Given the description of an element on the screen output the (x, y) to click on. 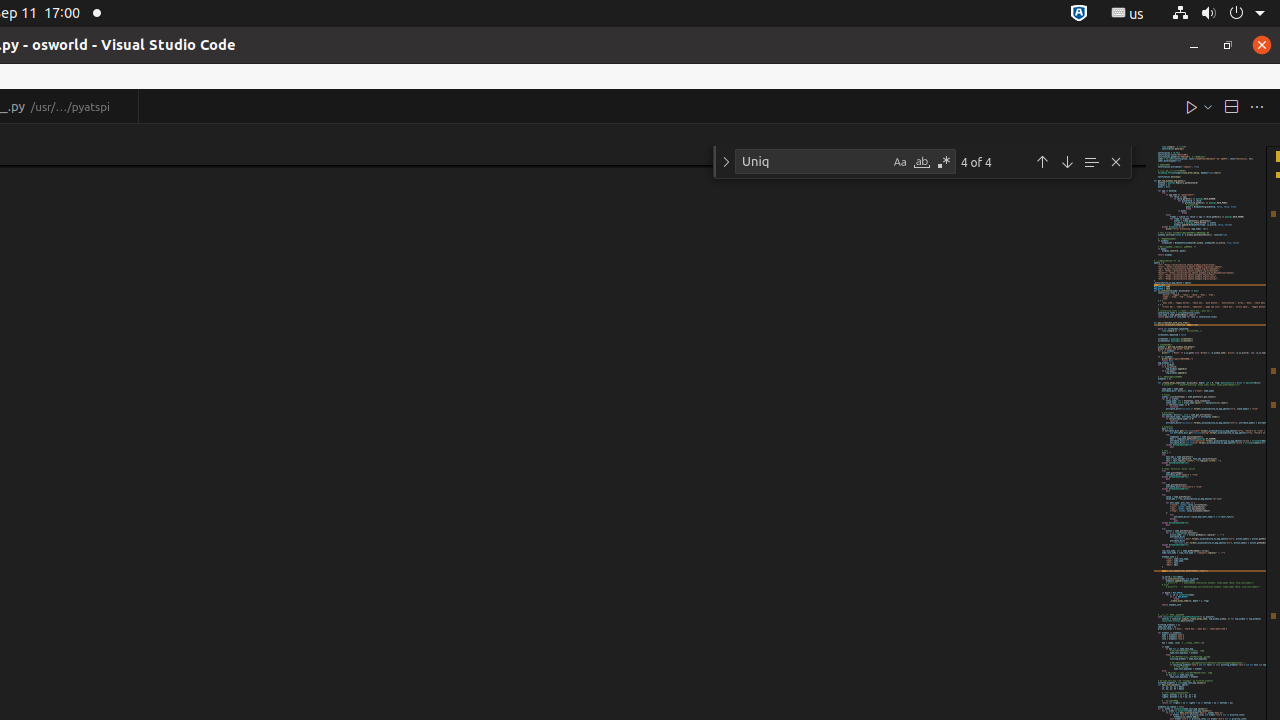
Match Whole Word (Alt+W) Element type: check-box (922, 162)
Previous Match (Shift+Enter) Element type: push-button (1042, 161)
Close (Escape) Element type: push-button (1116, 162)
Use Regular Expression (Alt+R) Element type: check-box (944, 162)
